Given the description of an element on the screen output the (x, y) to click on. 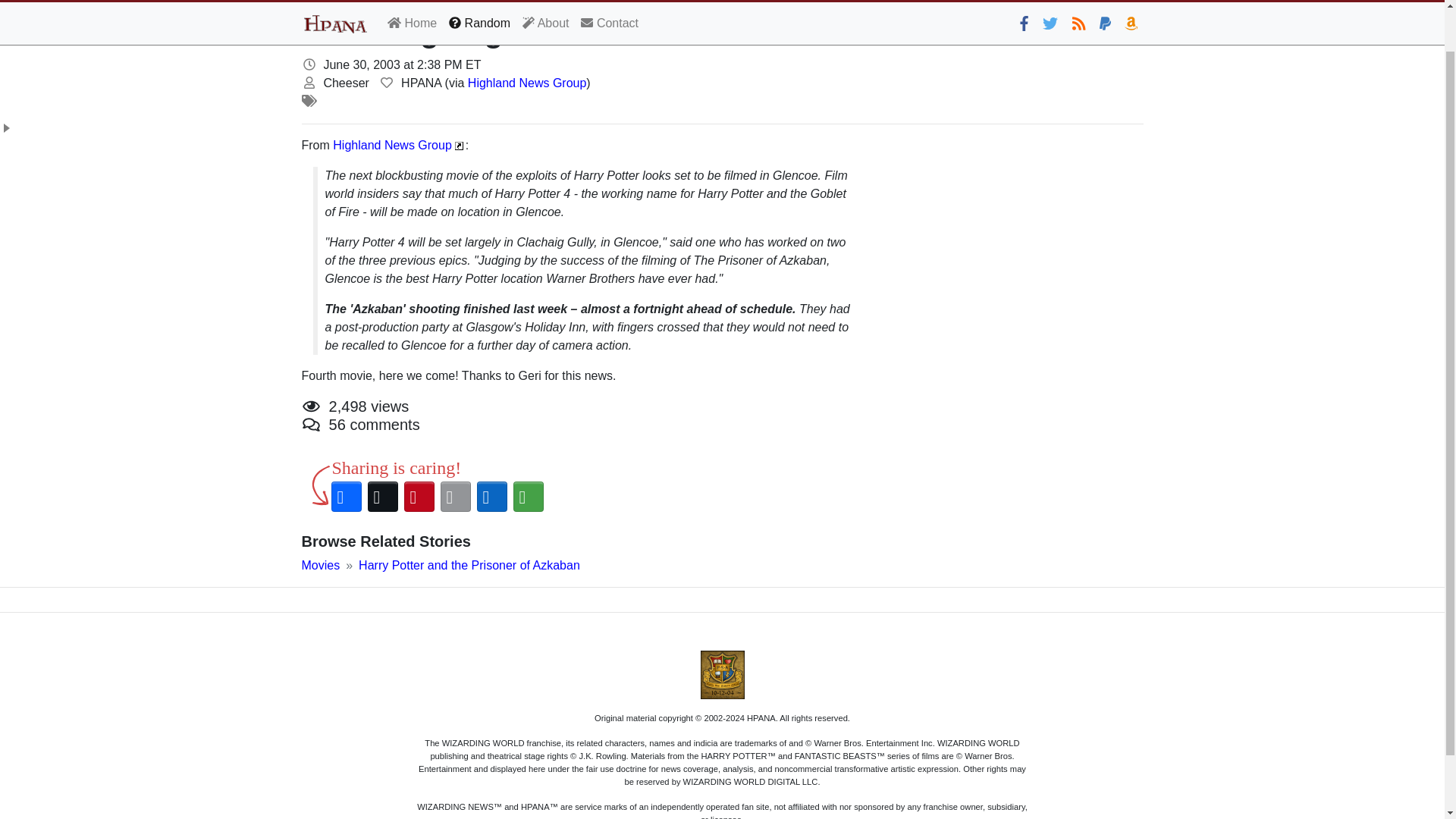
Pinterest (418, 496)
Movies (320, 564)
Source (386, 82)
Published (309, 64)
LinkedIn (491, 496)
Tags (309, 101)
Highland News Group (392, 144)
More Options (527, 496)
Tags (309, 101)
Author (309, 82)
